Given the description of an element on the screen output the (x, y) to click on. 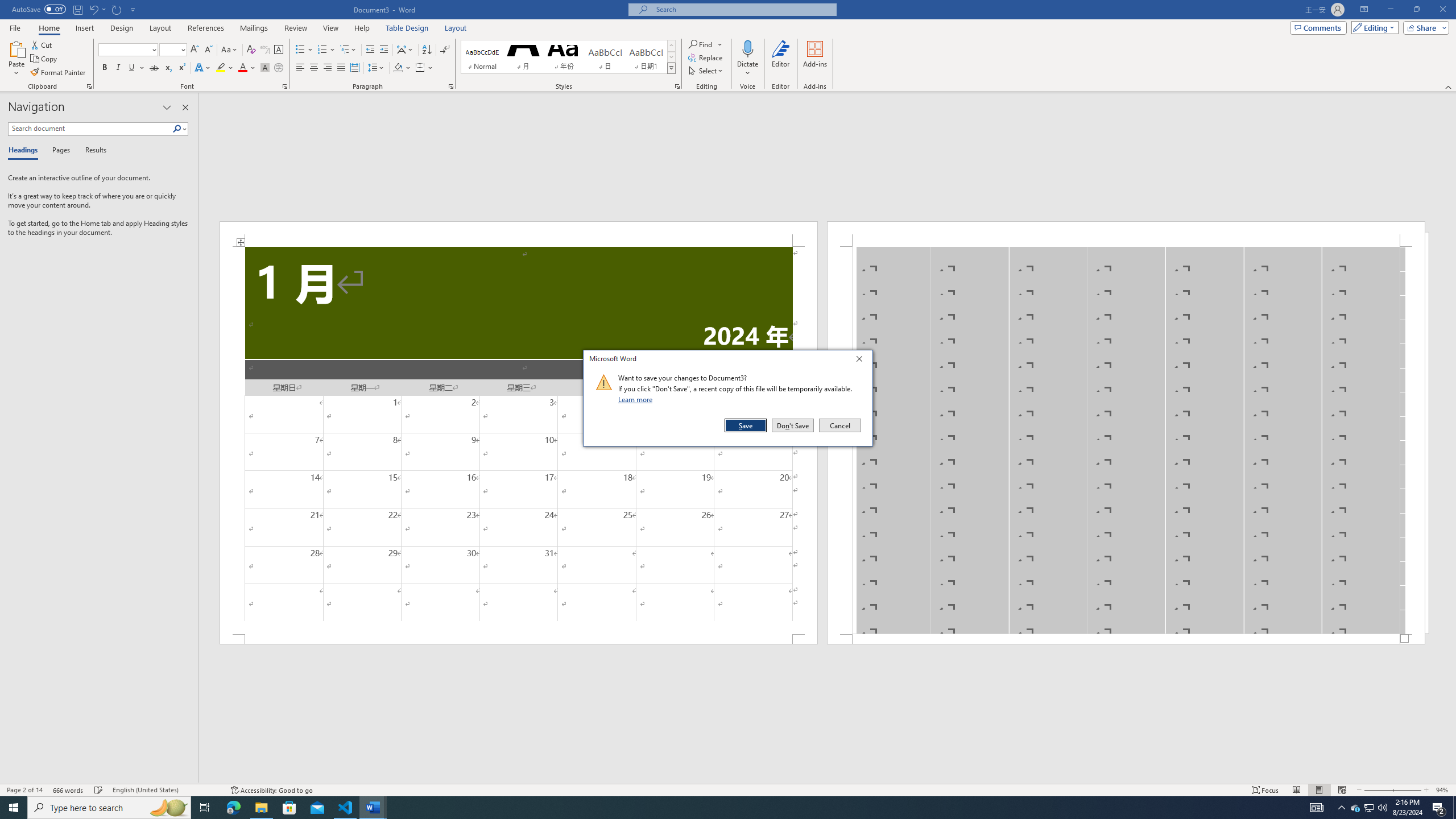
Save (746, 425)
Zoom Out (1377, 790)
Pages (59, 150)
Review (295, 28)
Zoom In (1407, 790)
Sort... (426, 49)
Office Clipboard... (88, 85)
Search document (89, 128)
Restore Down (1416, 9)
Row Down (670, 56)
Bullets (304, 49)
Microsoft Store (289, 807)
